Given the description of an element on the screen output the (x, y) to click on. 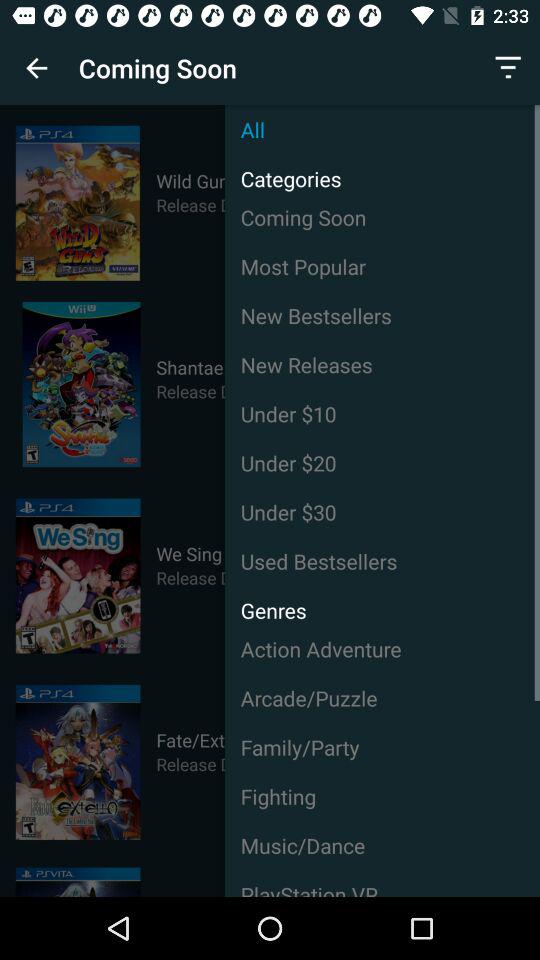
open the icon next to we sing icon (382, 561)
